Given the description of an element on the screen output the (x, y) to click on. 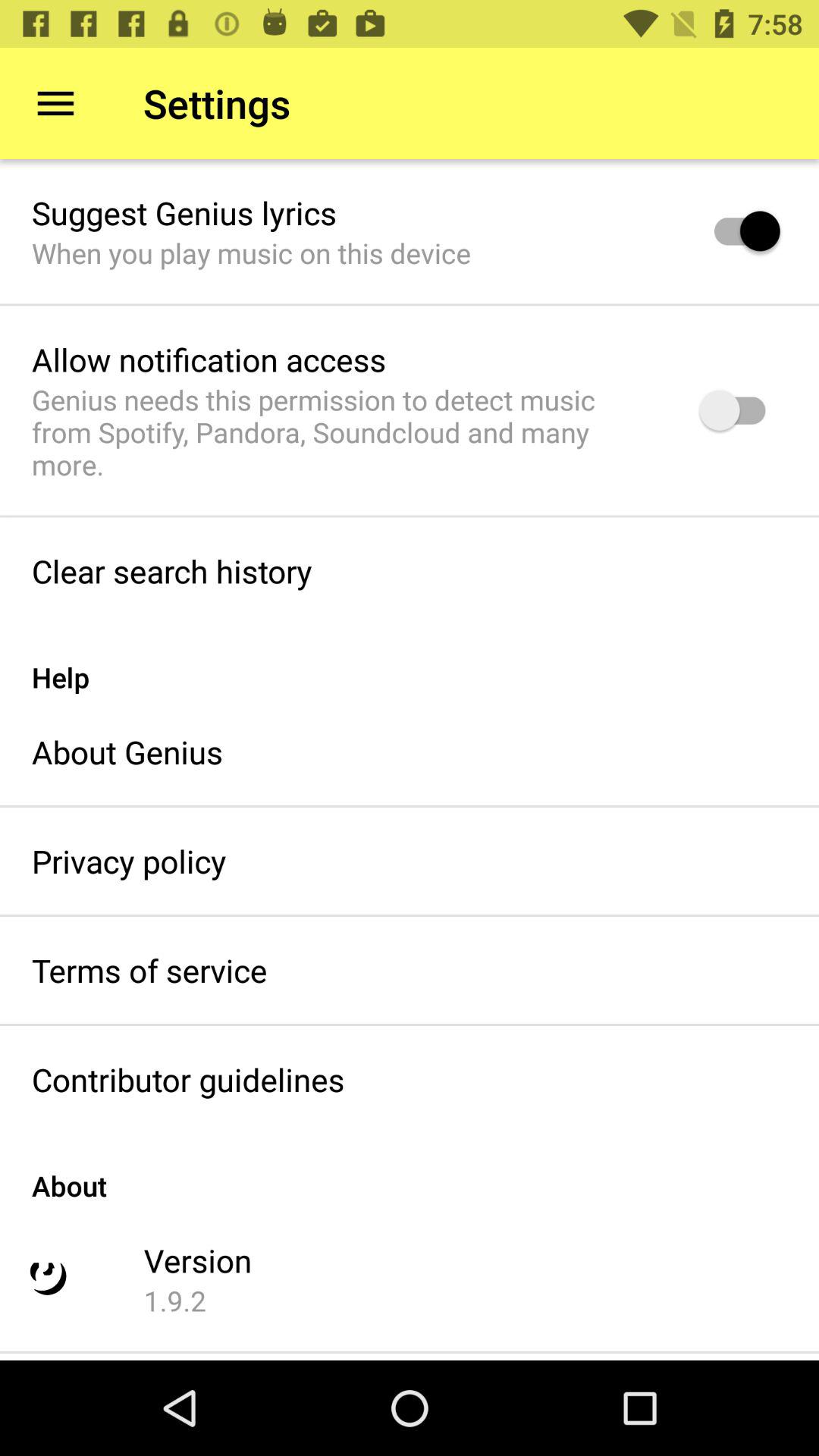
turn on when you play (250, 252)
